Given the description of an element on the screen output the (x, y) to click on. 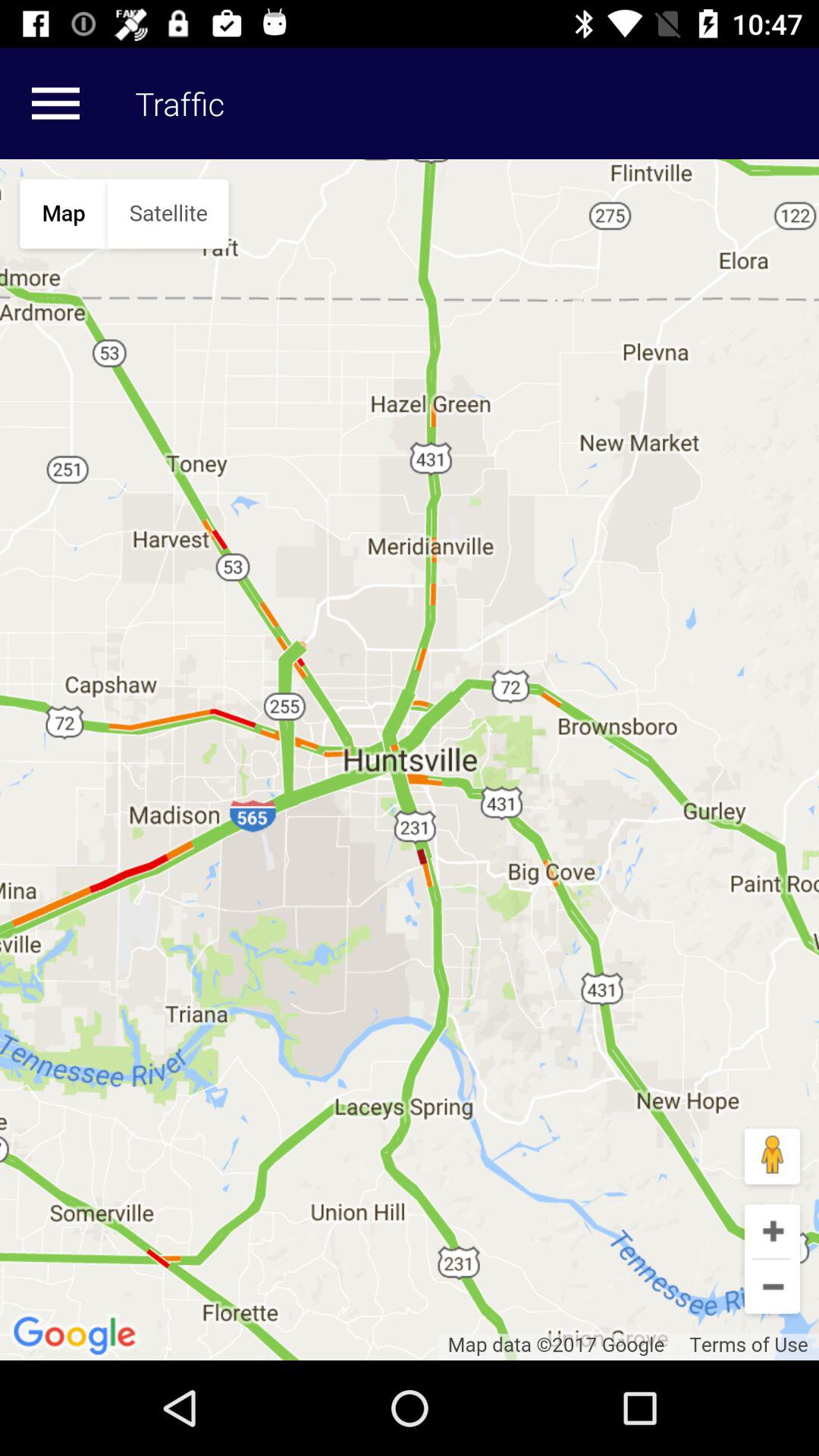
view the menu (55, 103)
